Given the description of an element on the screen output the (x, y) to click on. 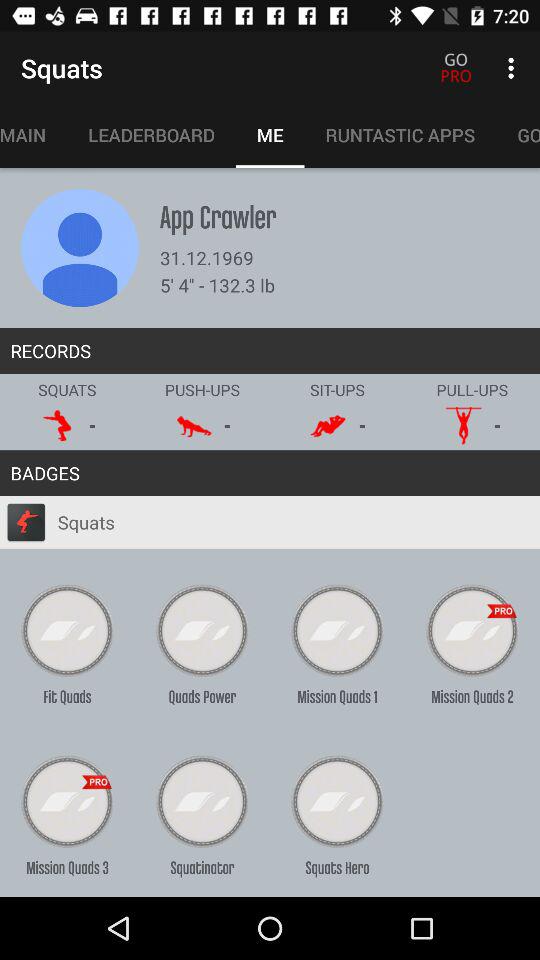
tap the item next to leaderboard icon (33, 135)
